Given the description of an element on the screen output the (x, y) to click on. 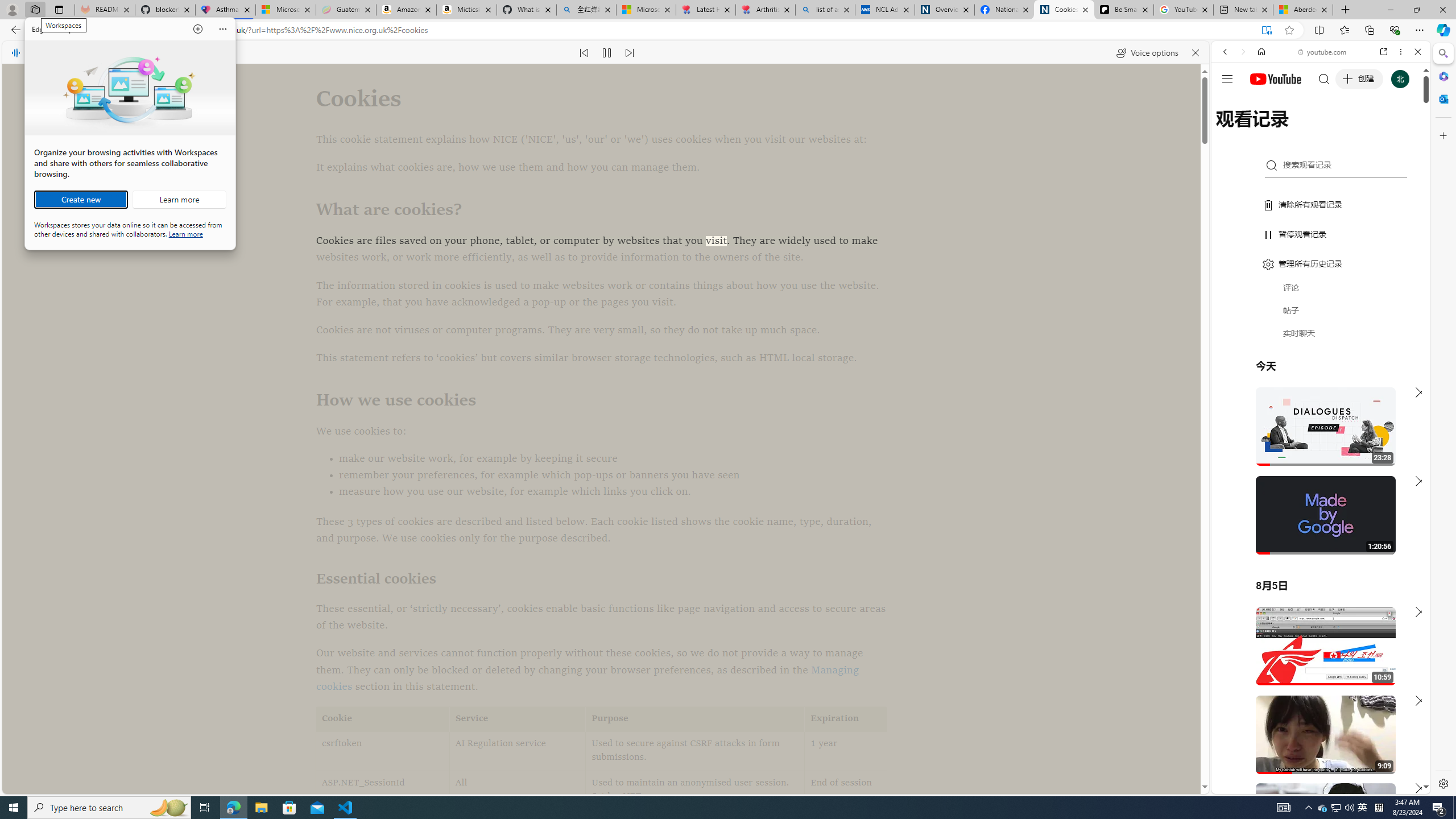
Search Filter, WEB (1230, 129)
Preferences (1403, 129)
Class: b_serphb (1404, 130)
Q2790: 100% (1349, 807)
File Explorer (261, 807)
Search highlights icon opens search home window (167, 807)
User Promoted Notification Area (1336, 807)
